Given the description of an element on the screen output the (x, y) to click on. 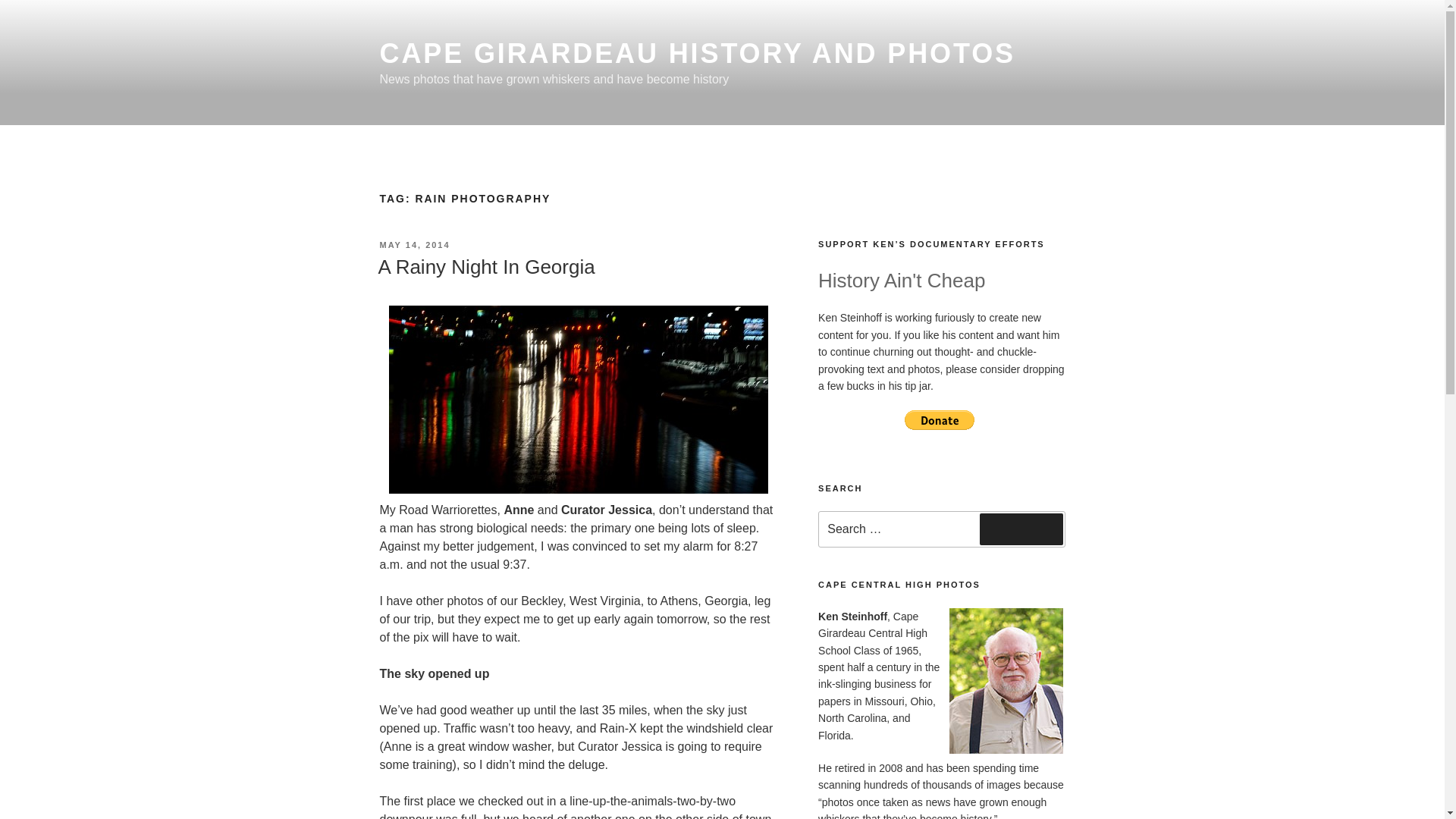
A Rainy Night In Georgia (485, 266)
MAY 14, 2014 (413, 244)
Search (1020, 529)
CAPE GIRARDEAU HISTORY AND PHOTOS (696, 52)
